Given the description of an element on the screen output the (x, y) to click on. 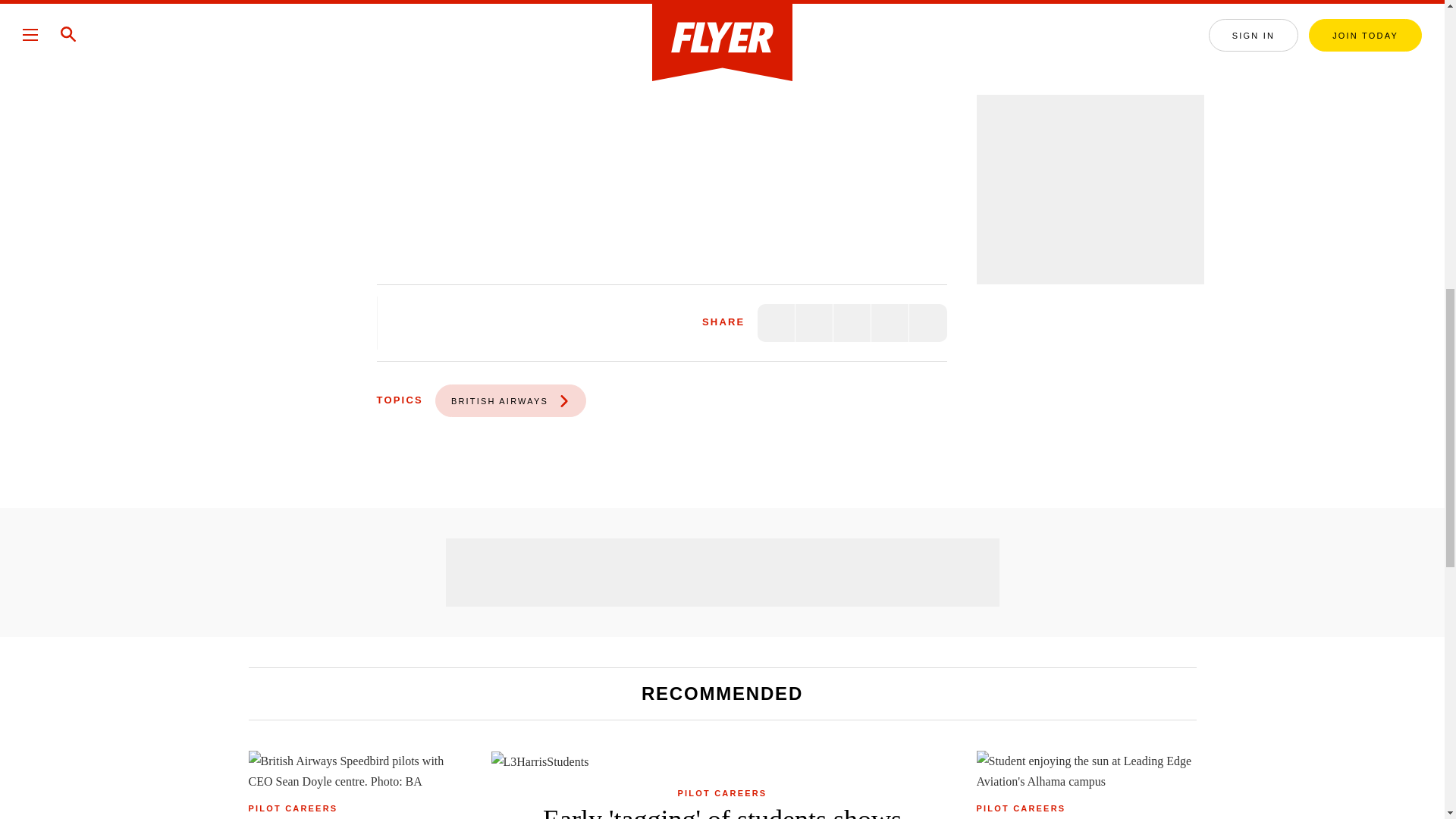
Copied to clipboard! (889, 322)
